Given the description of an element on the screen output the (x, y) to click on. 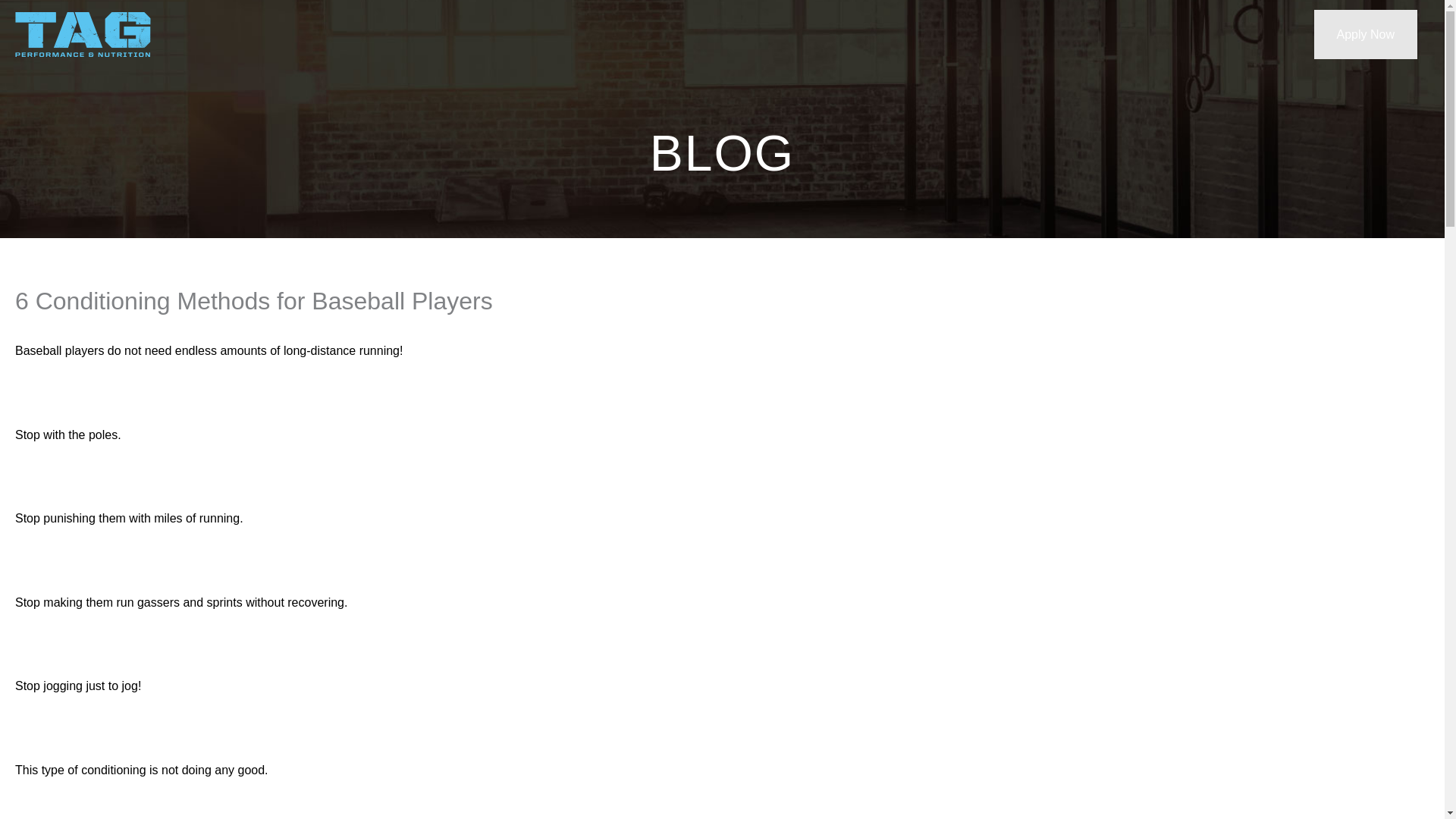
Apply Now (1365, 34)
